Given the description of an element on the screen output the (x, y) to click on. 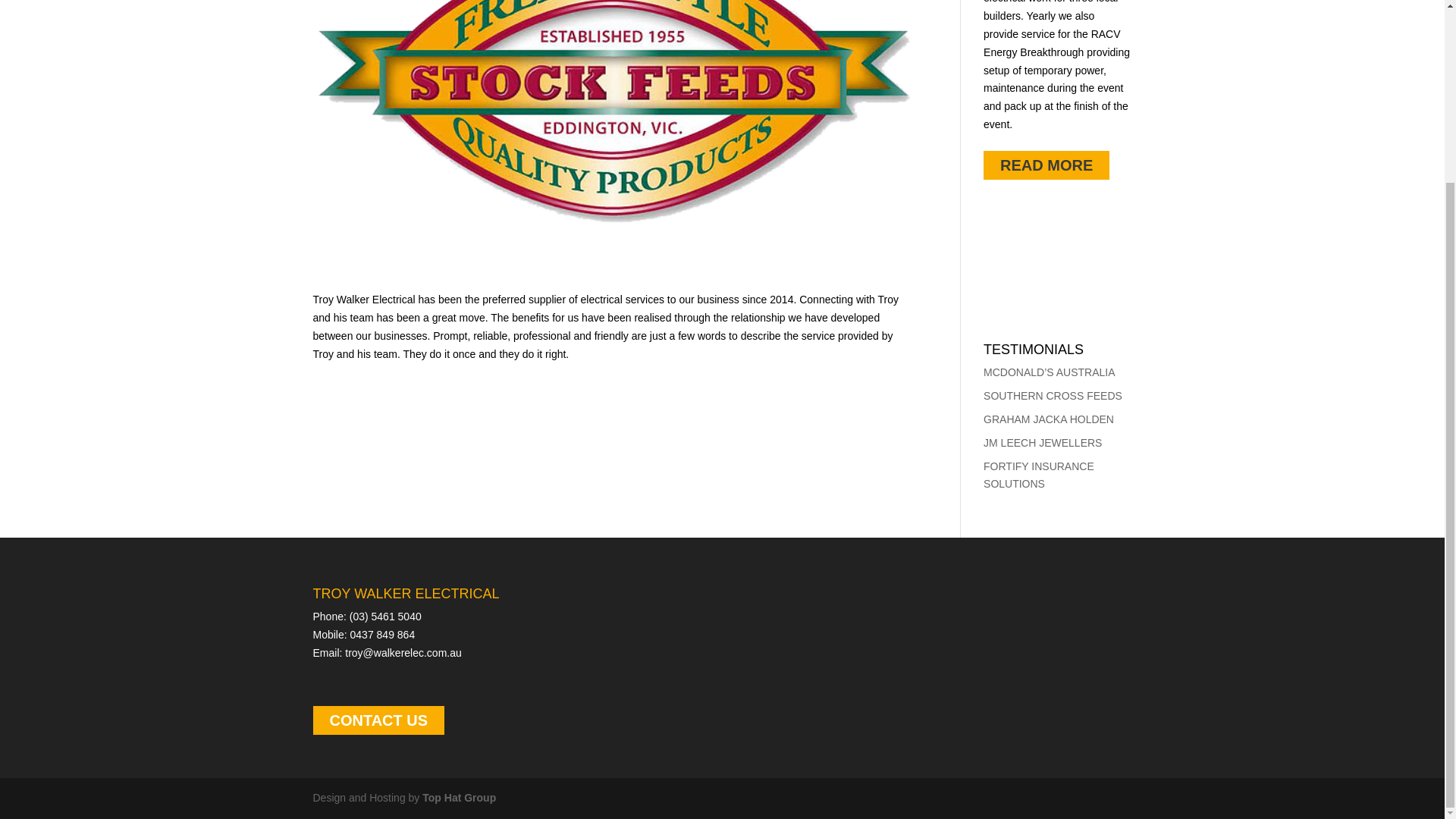
READ MORE (1046, 164)
